Given the description of an element on the screen output the (x, y) to click on. 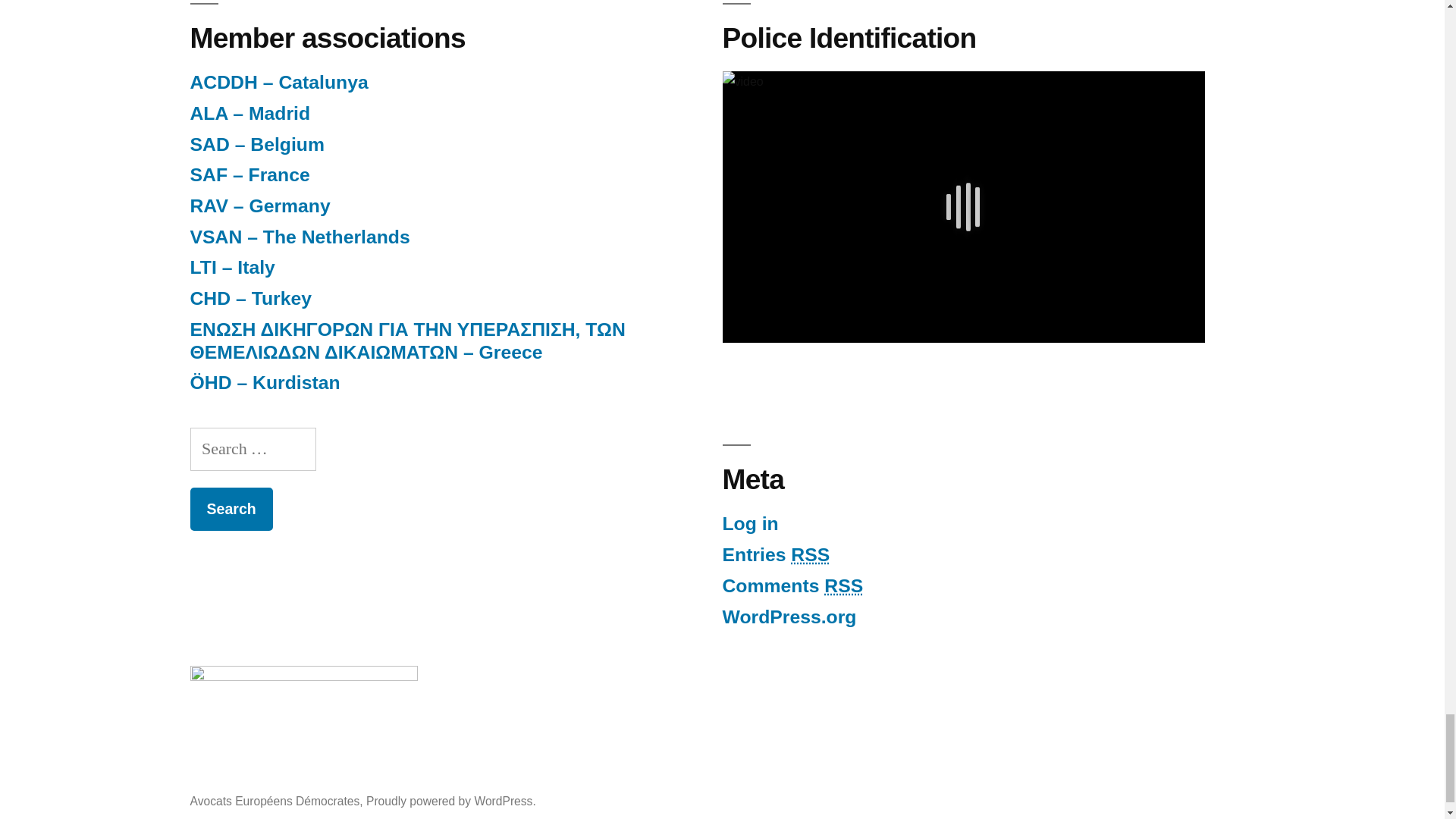
Search (230, 508)
Really Simple Syndication (809, 554)
Really Simple Syndication (843, 585)
Search (230, 508)
